Given the description of an element on the screen output the (x, y) to click on. 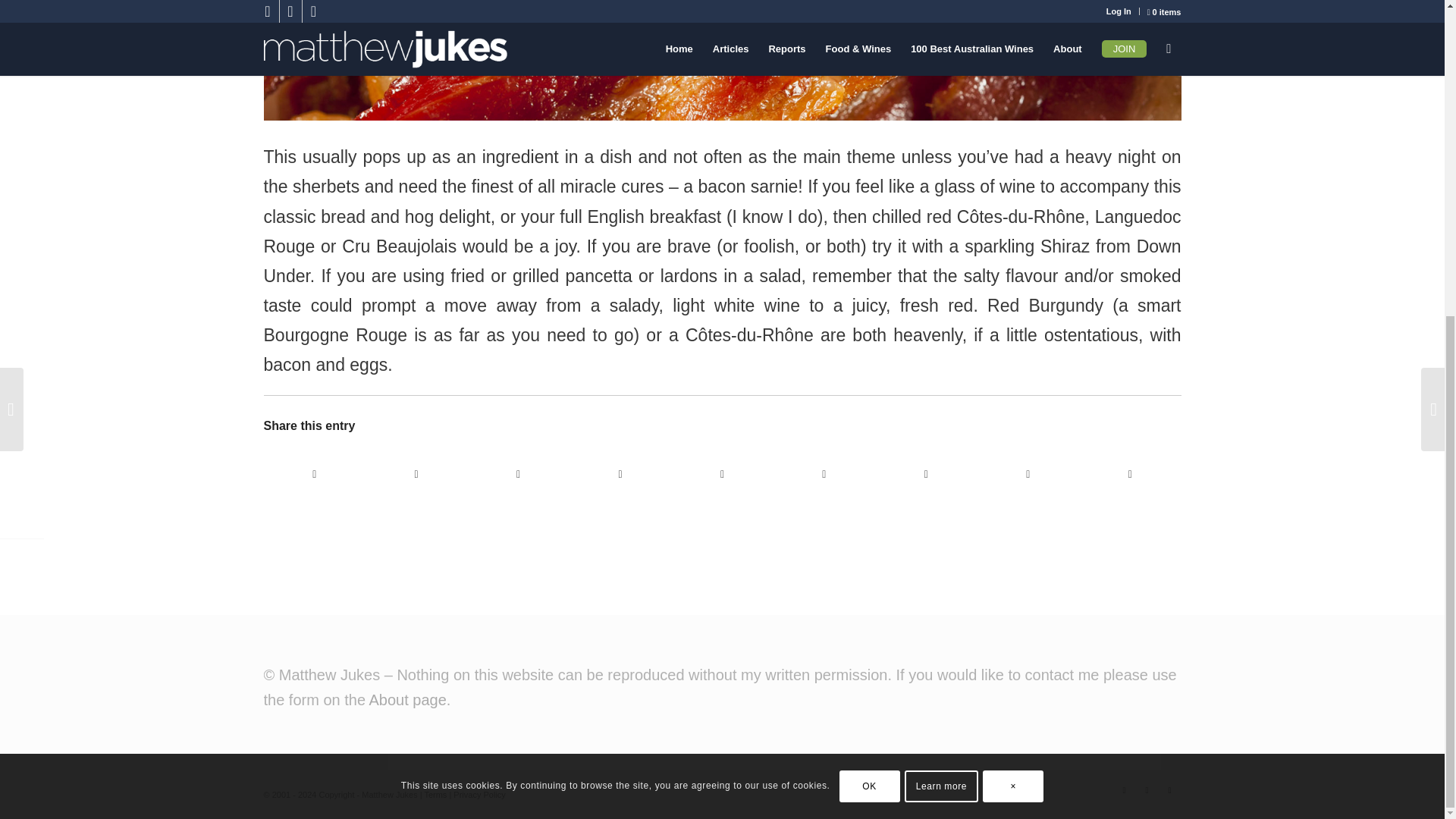
About page (406, 699)
LinkedIn (1124, 789)
Instagram (1169, 789)
X (1146, 789)
